Given the description of an element on the screen output the (x, y) to click on. 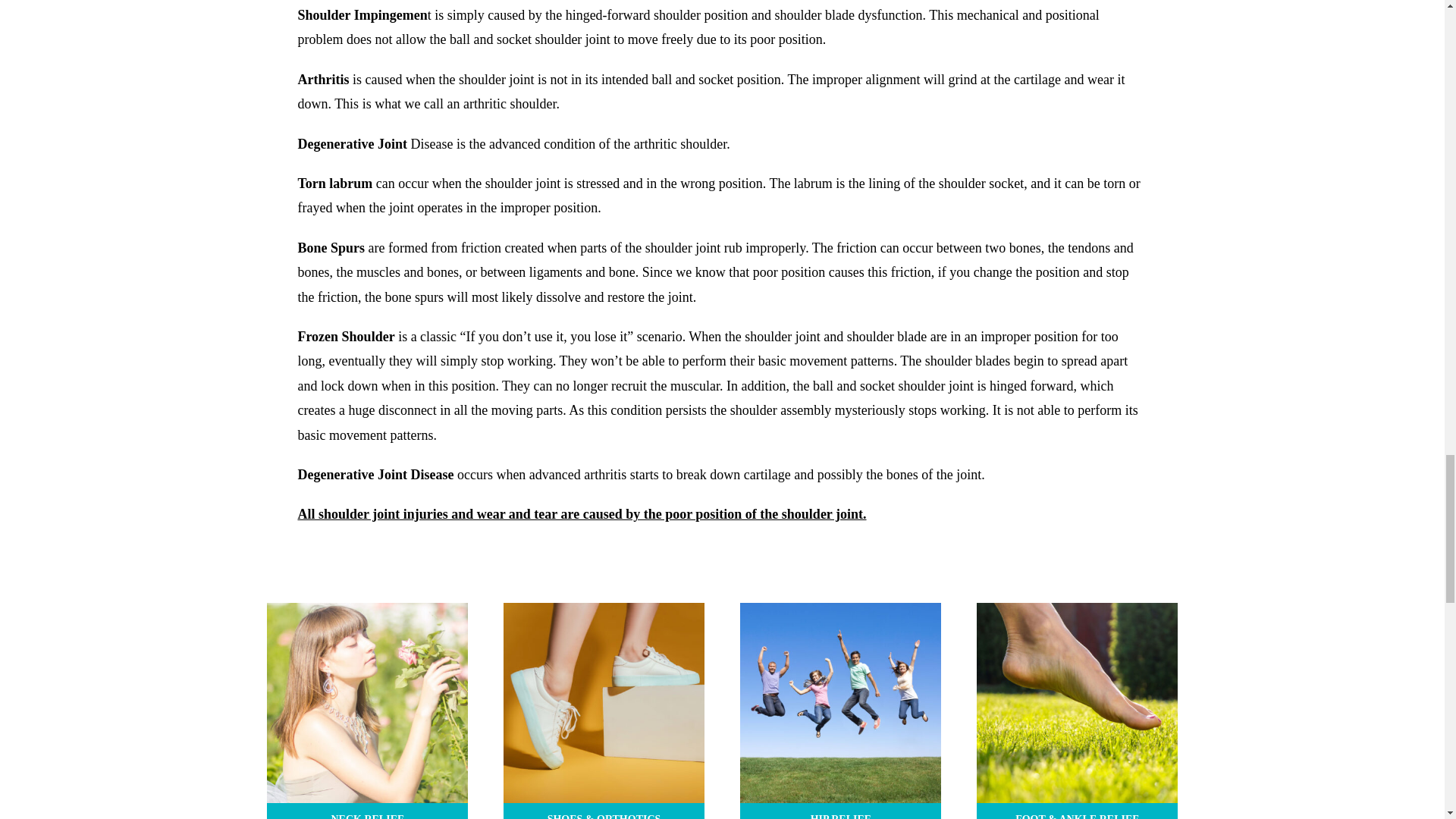
Pete-2 (839, 702)
Pete-1 (603, 702)
Neck-Pete (366, 702)
Pete-3 (1076, 702)
